Given the description of an element on the screen output the (x, y) to click on. 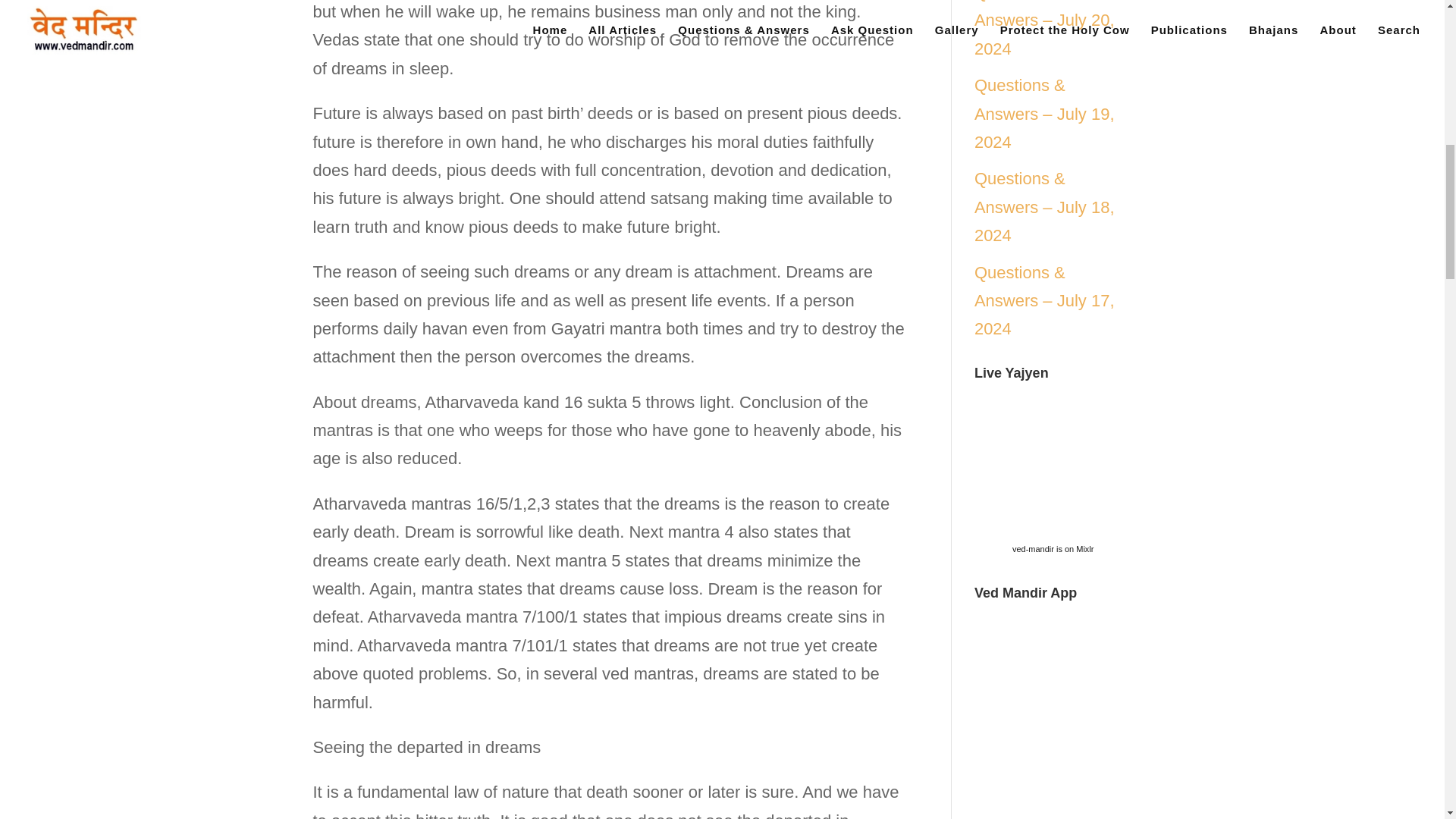
ved-mandir is on Mixlr (1052, 548)
